Given the description of an element on the screen output the (x, y) to click on. 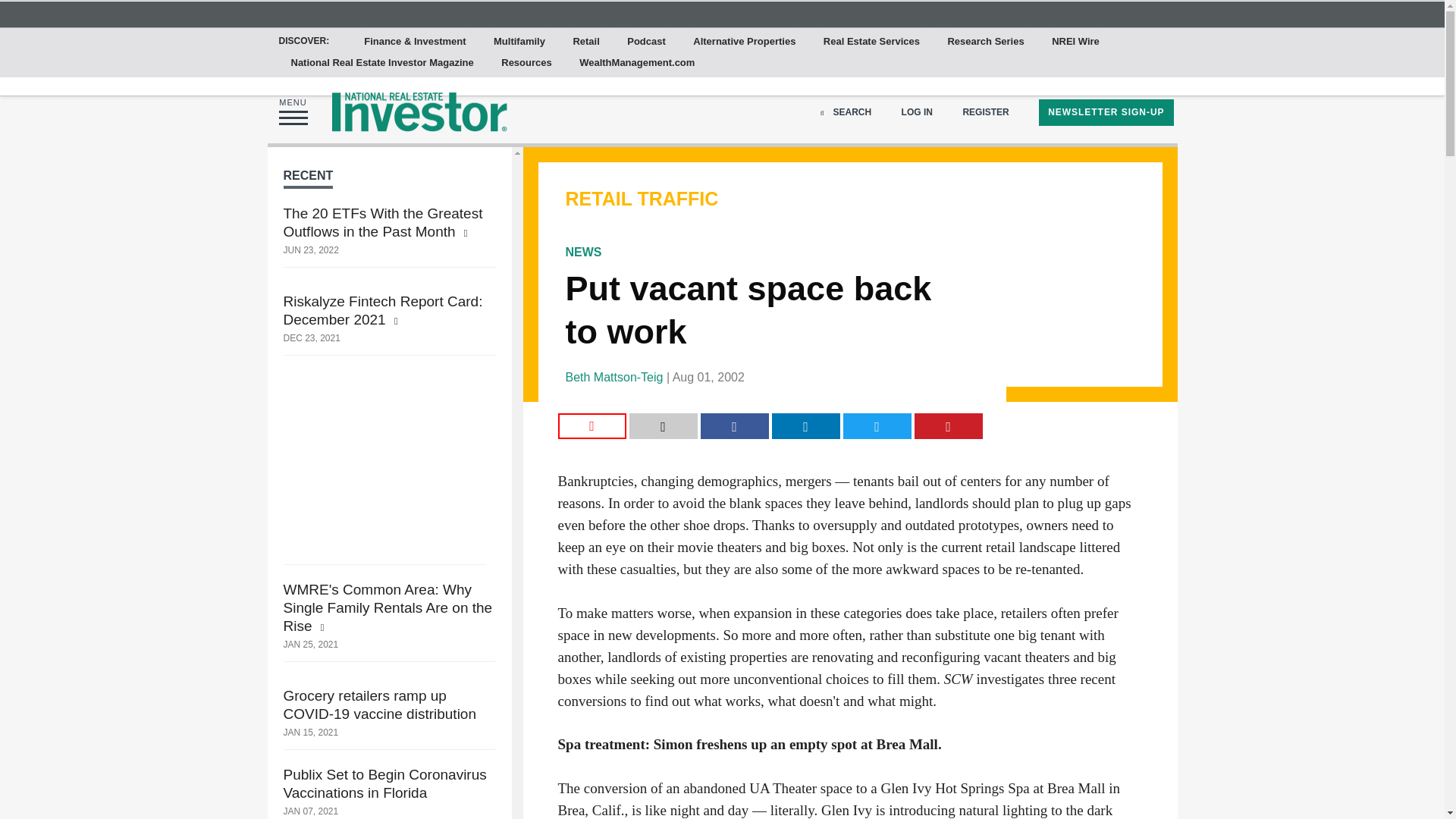
Multifamily (519, 41)
Podcast (646, 41)
WealthManagement.com (636, 62)
Real Estate Services (871, 41)
Alternative Properties (744, 41)
Retail (585, 41)
Resources (526, 62)
NREI Wire (1075, 41)
INFORMA (722, 13)
Research Series (984, 41)
